Given the description of an element on the screen output the (x, y) to click on. 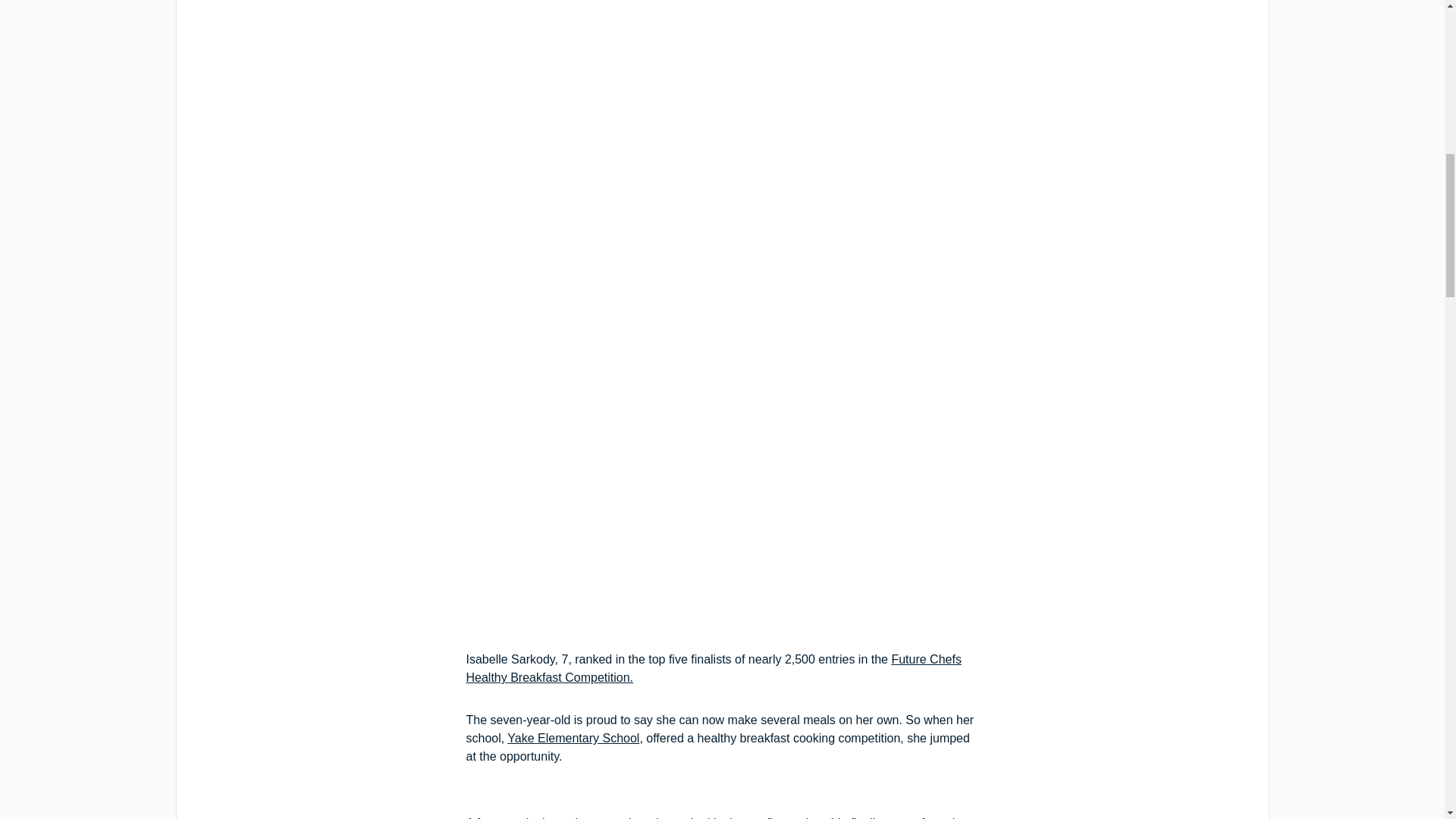
Future Chefs Healthy Breakfast Competition. (712, 667)
Yake Elementary School (572, 738)
